Given the description of an element on the screen output the (x, y) to click on. 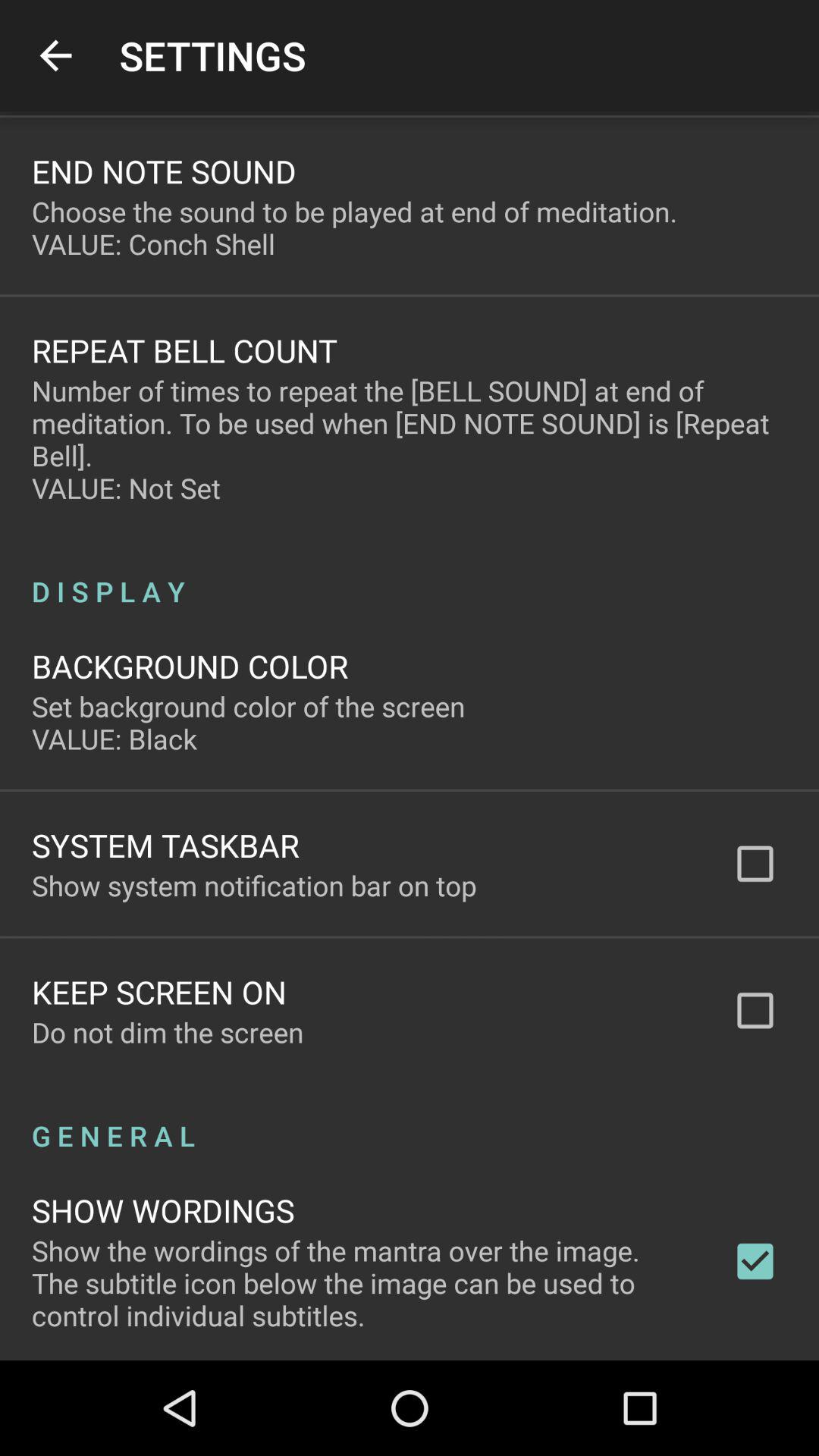
tap the icon above the show wordings (409, 1119)
